Given the description of an element on the screen output the (x, y) to click on. 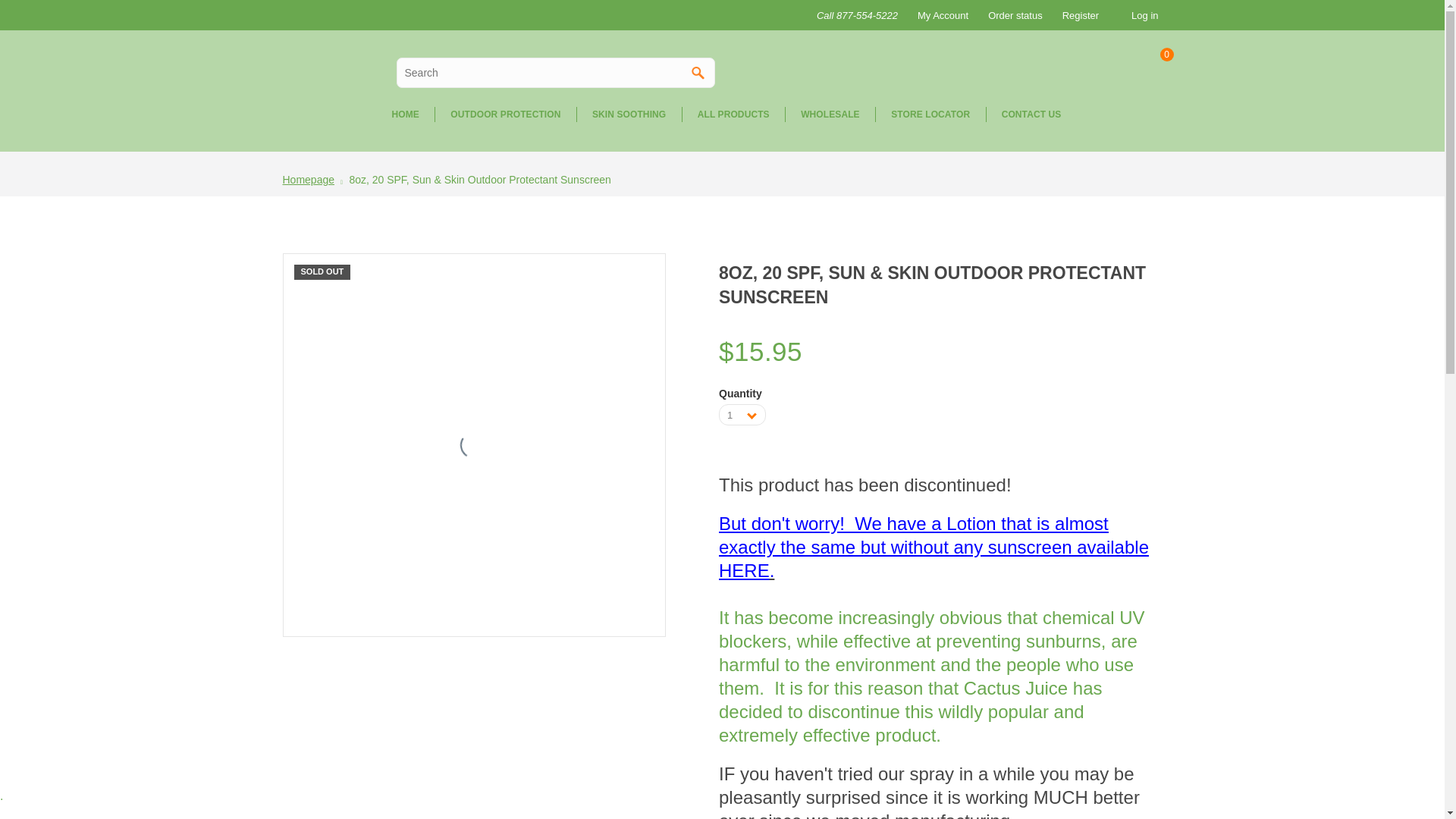
OUTDOOR PROTECTION (504, 114)
Register (1077, 15)
ALL PRODUCTS (732, 114)
HOME (404, 114)
STORE LOCATOR (930, 114)
Log in (1146, 15)
SKIN SOOTHING (628, 114)
CONTACT US (1031, 114)
Call 877-554-5222 (855, 15)
Log in (1146, 15)
My Account (940, 15)
WHOLESALE (829, 114)
Order status (1012, 15)
Homepage (308, 179)
